Given the description of an element on the screen output the (x, y) to click on. 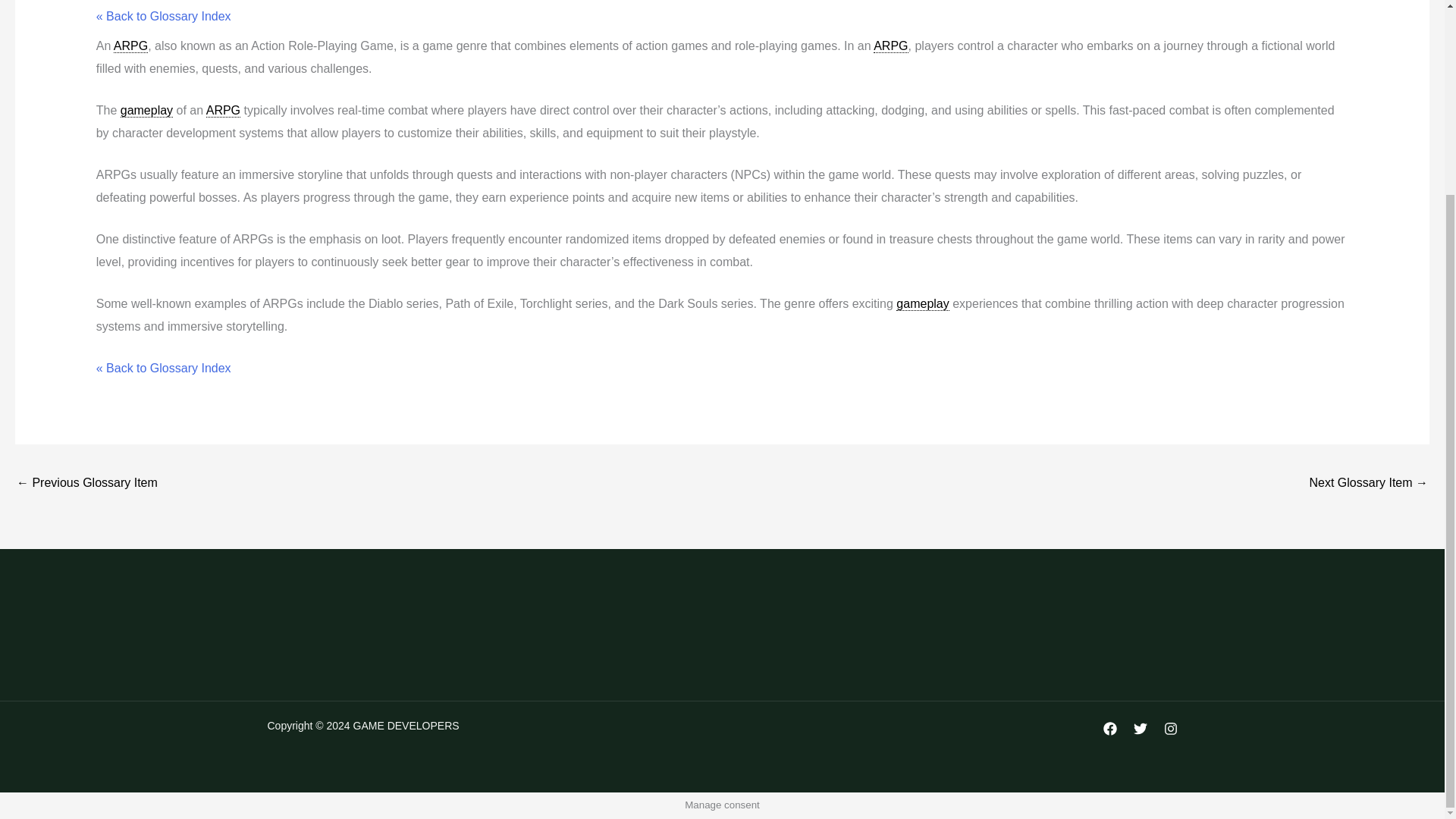
ARPG (890, 46)
Alpha (86, 483)
ARPG (130, 46)
